Given the description of an element on the screen output the (x, y) to click on. 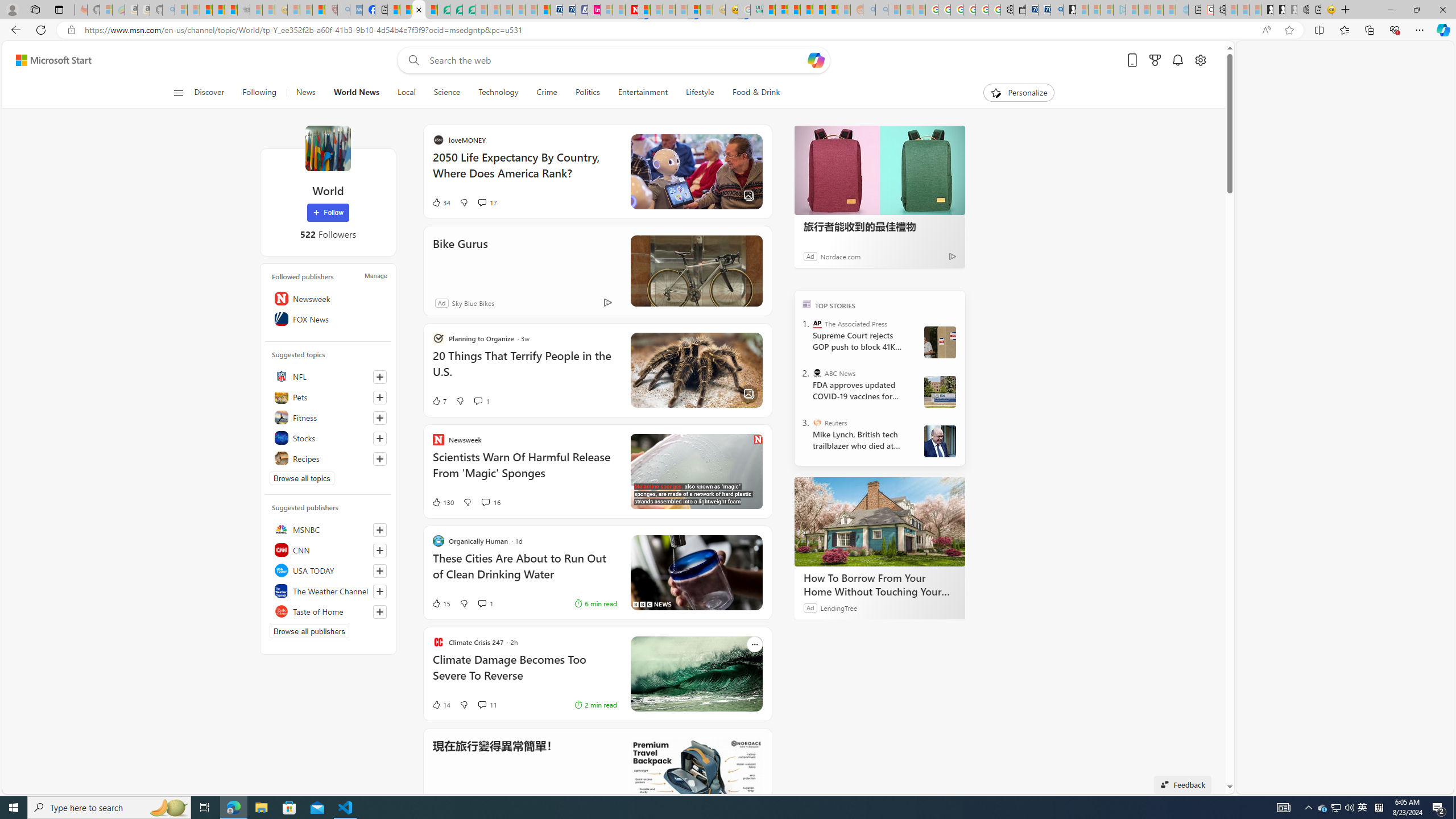
2050 Life Expectancy By Country, Where Does America Rank? (633, 171)
